Given the description of an element on the screen output the (x, y) to click on. 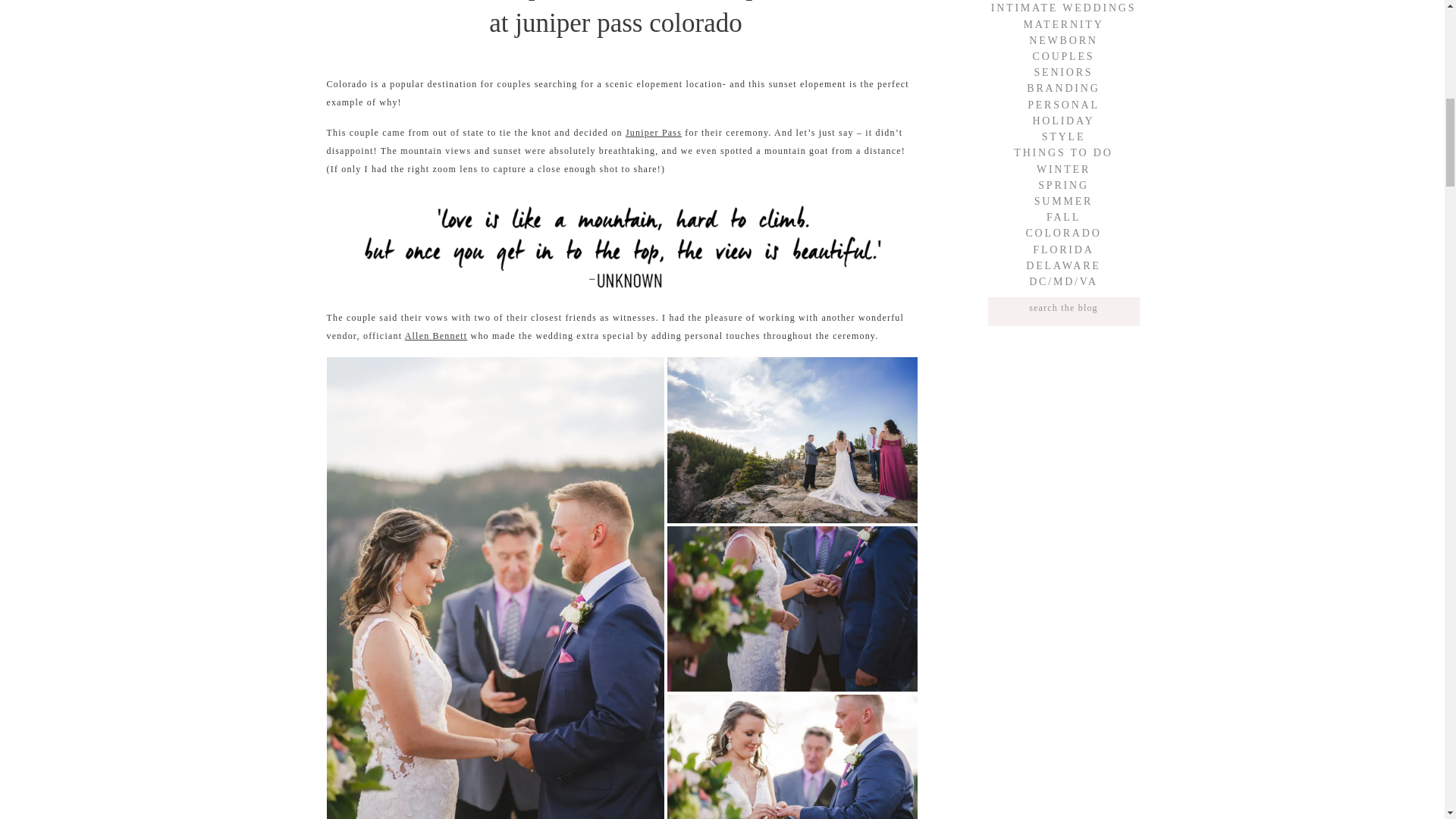
PERSONAL (1063, 105)
NEWBORN (1063, 40)
SENIORS (1062, 72)
STYLE (1062, 136)
MATERNITY (1063, 24)
SPRING (1062, 185)
COLORADO (1062, 232)
DELAWARE (1062, 265)
INTIMATE WEDDINGS (1062, 7)
Allen Bennett (435, 335)
FALL (1062, 217)
SUMMER (1062, 201)
HOLIDAY (1062, 120)
Juniper Pass (653, 132)
BRANDING (1063, 88)
